Given the description of an element on the screen output the (x, y) to click on. 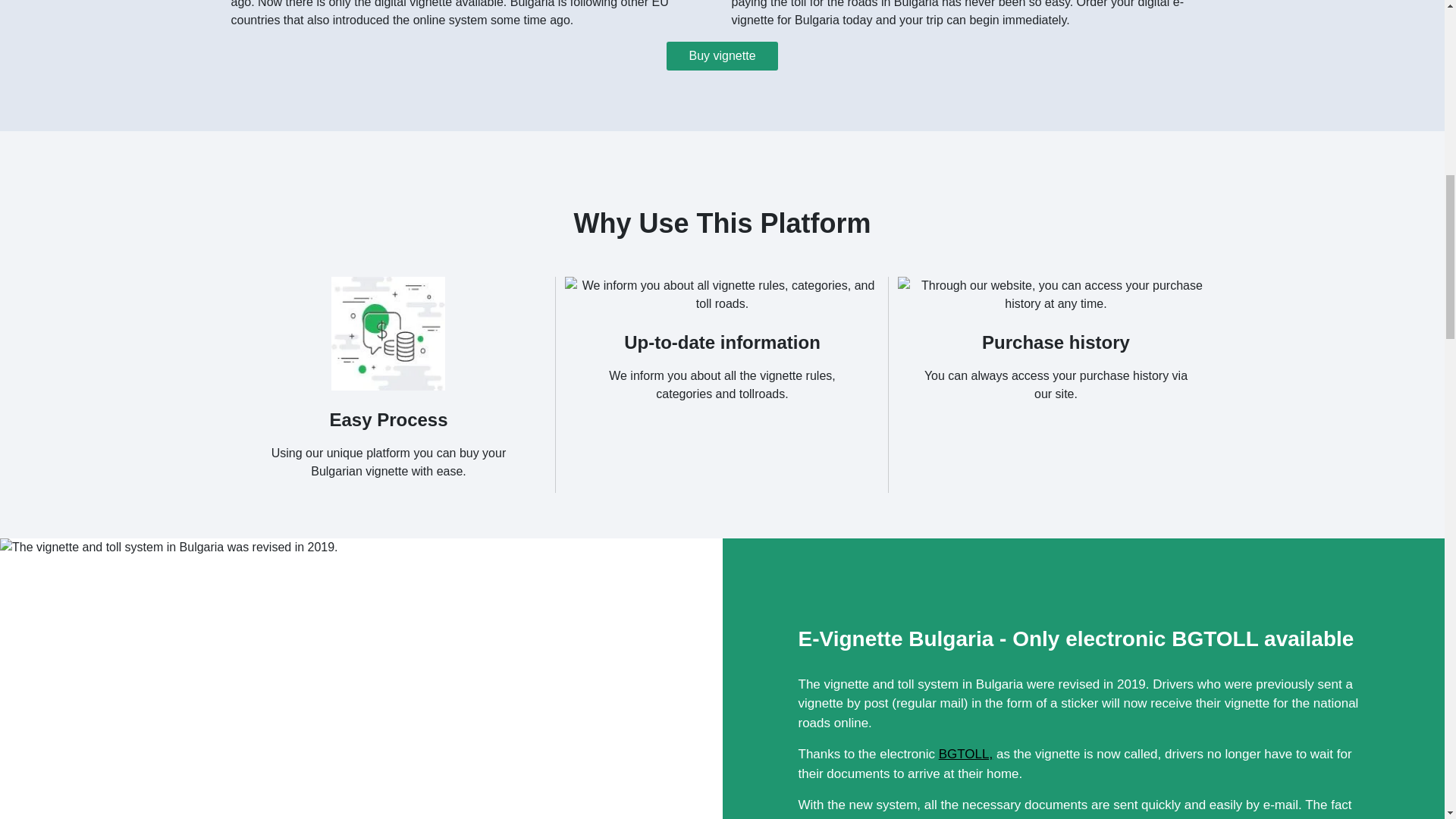
Electronic Vignette Bulgaria - Only electronic BGTOLL now (168, 678)
Buy vignette (721, 55)
BGTOLL, (965, 753)
Vignette rules, categories and toll roads (721, 294)
Purchase history at Vignette Bulgaria  (1055, 294)
Buy your Bulgarian vignette easily (388, 333)
